Given the description of an element on the screen output the (x, y) to click on. 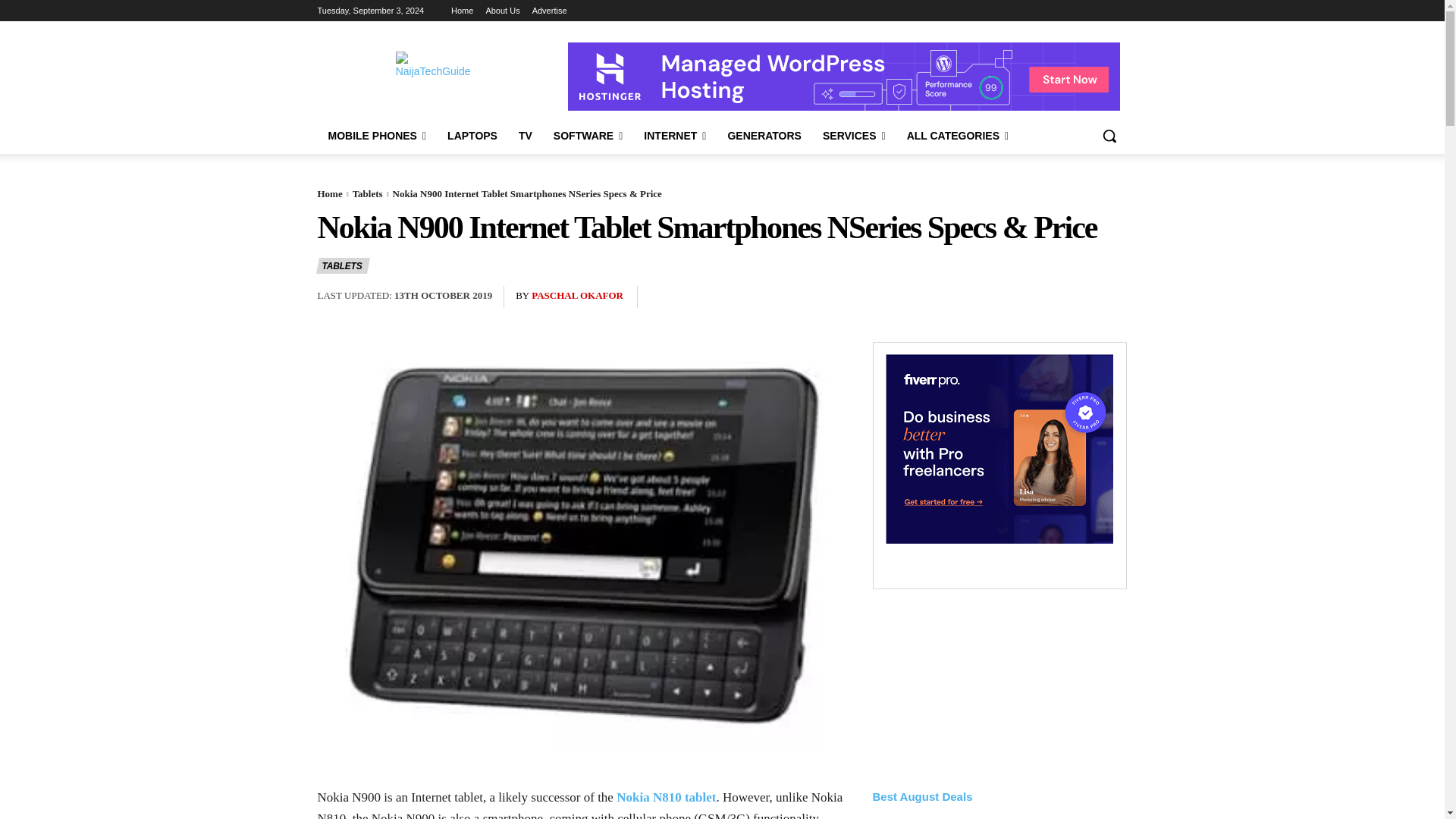
Advertise and Promote your Business on NaijaTechGuide NTG (549, 10)
About Us (501, 10)
Advertise (549, 10)
MOBILE PHONES (376, 135)
NaijaTechGuide (438, 76)
NaijaTechGuide (438, 76)
Home (462, 10)
